Given the description of an element on the screen output the (x, y) to click on. 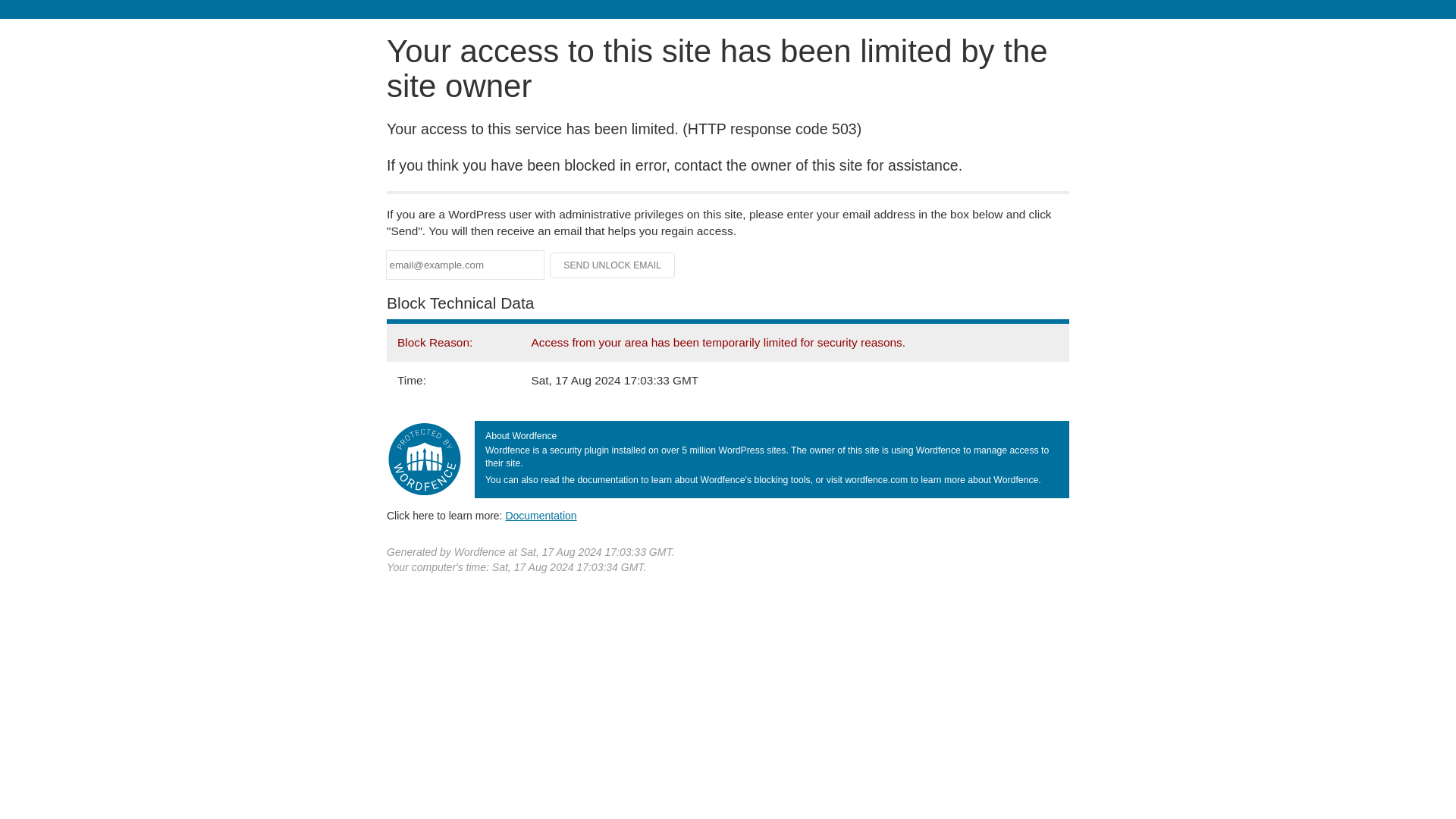
Send Unlock Email (612, 265)
Documentation (540, 515)
Send Unlock Email (612, 265)
